Given the description of an element on the screen output the (x, y) to click on. 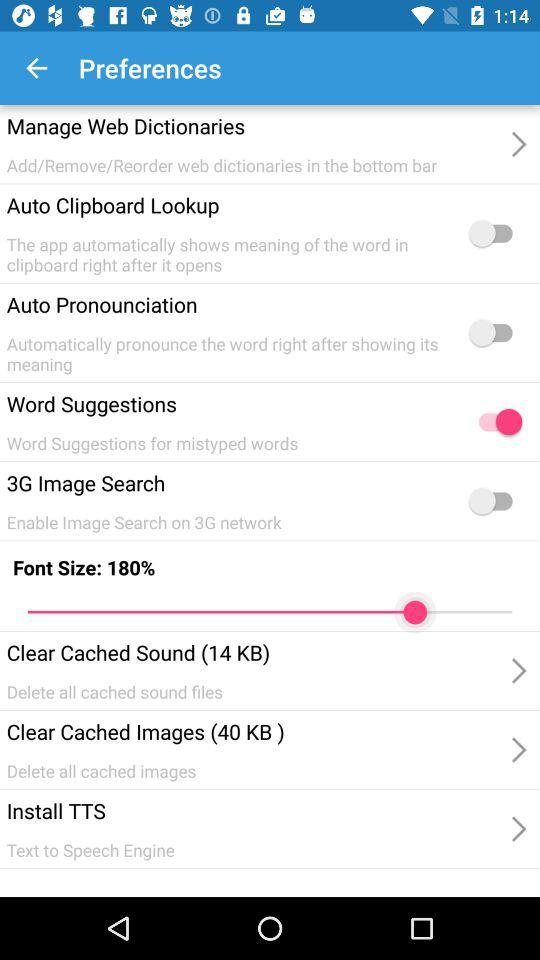
enable search on 3g network (495, 501)
